Given the description of an element on the screen output the (x, y) to click on. 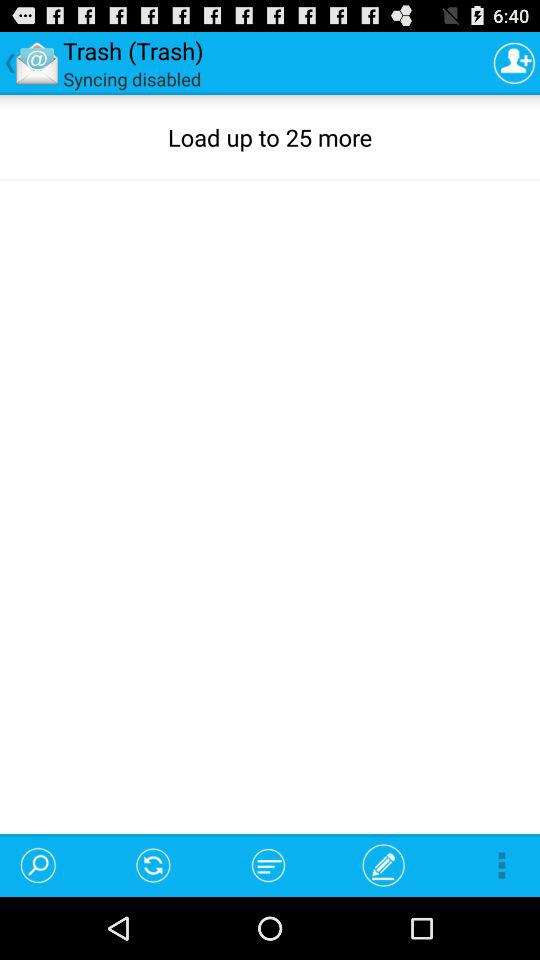
press the item below the load up to item (383, 864)
